Given the description of an element on the screen output the (x, y) to click on. 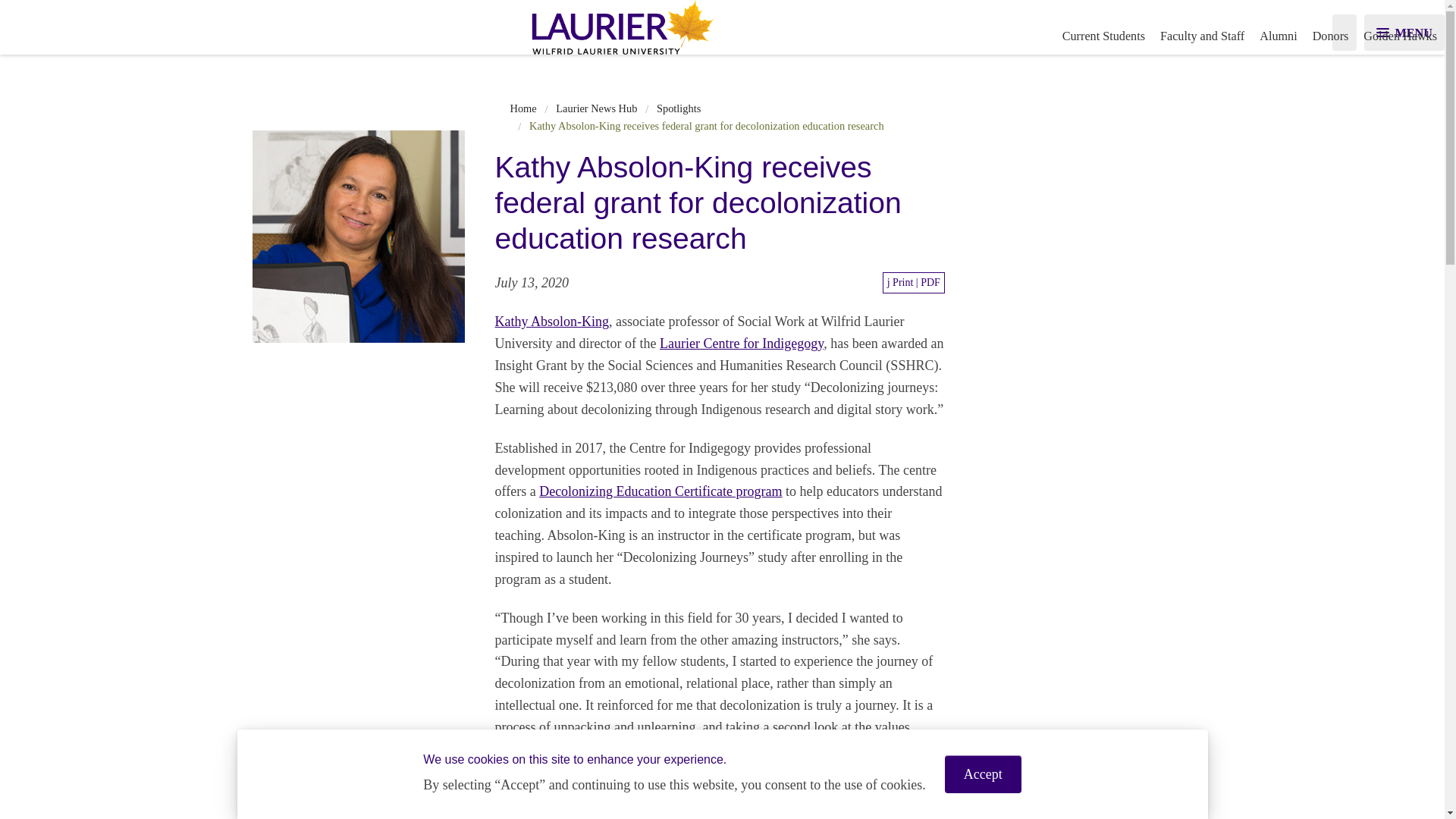
Donors (1330, 36)
Alumni (1278, 36)
Faculty and Staff (1202, 36)
Current Students (1103, 36)
Printer Friendly and PDF (913, 282)
